Given the description of an element on the screen output the (x, y) to click on. 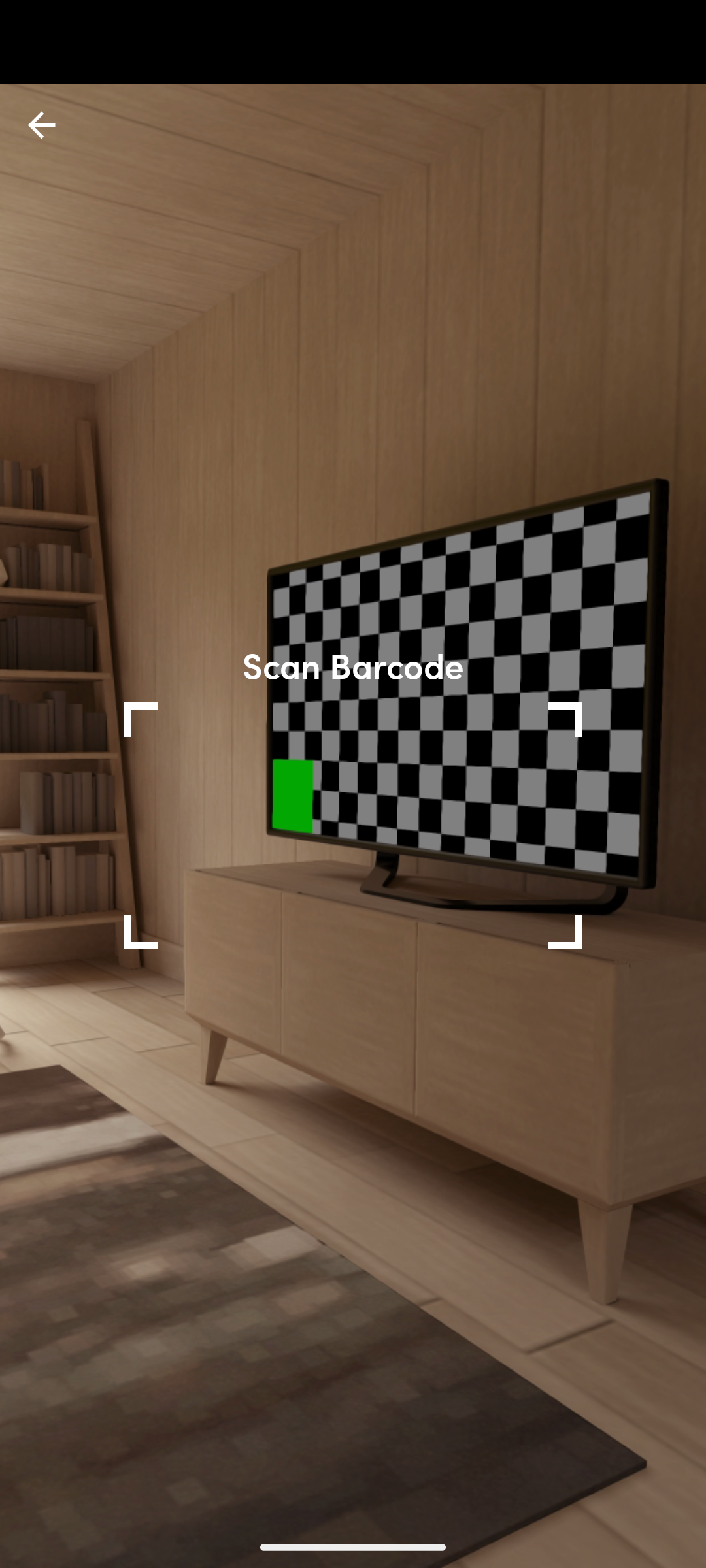
top_left_action (41, 125)
